Given the description of an element on the screen output the (x, y) to click on. 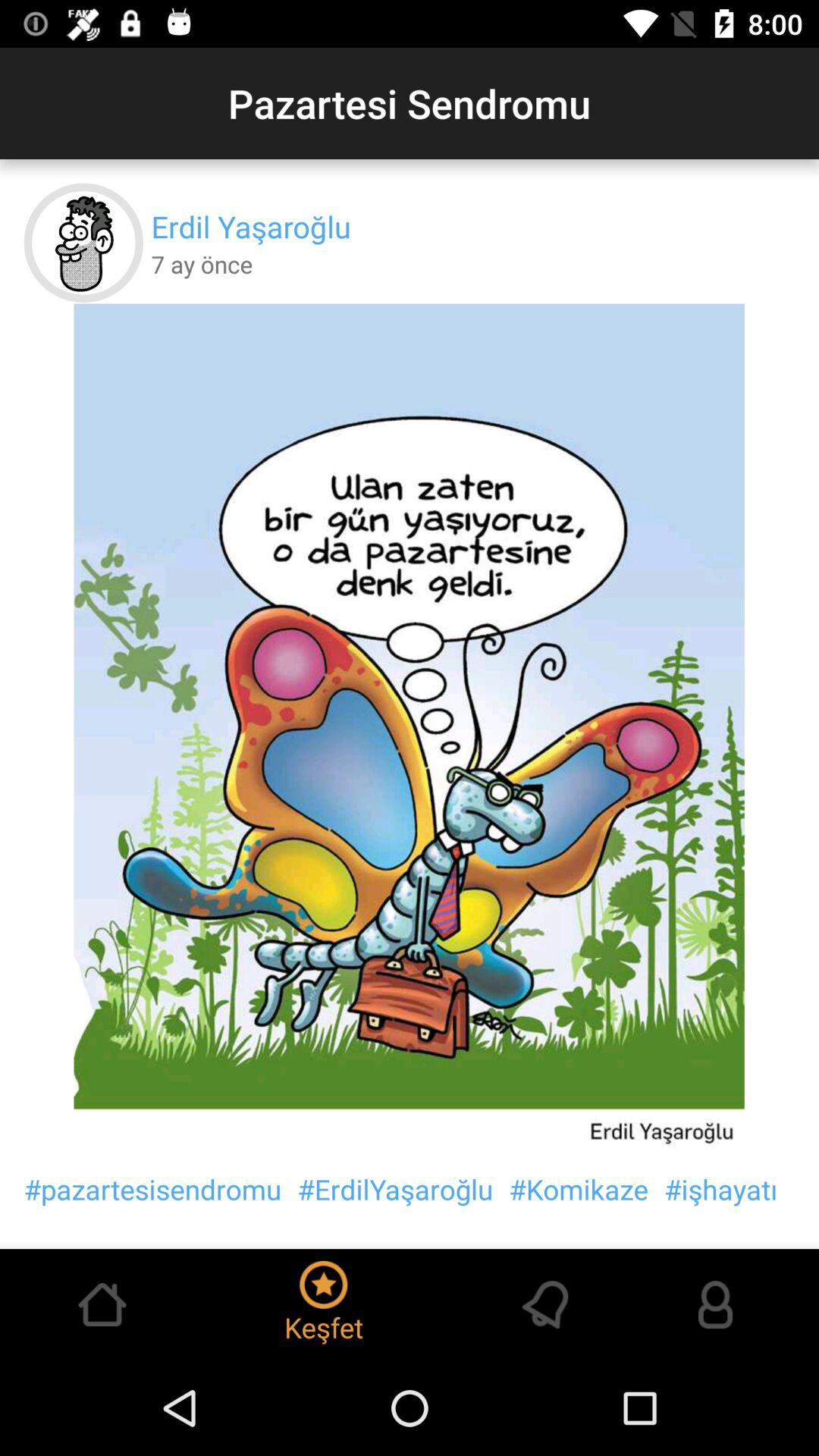
turn off the item below pazartesi sendromu (250, 226)
